Given the description of an element on the screen output the (x, y) to click on. 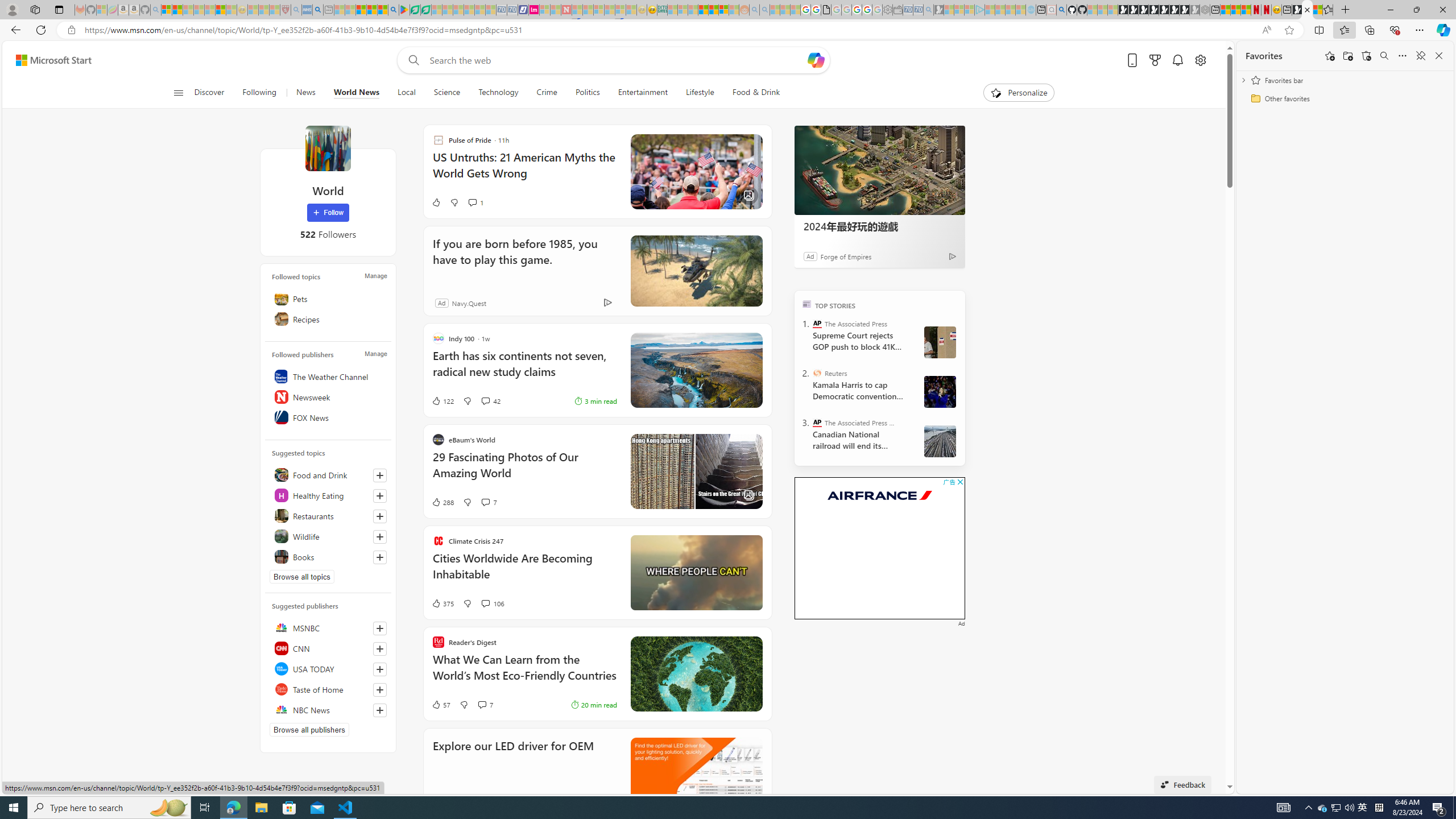
Explore our LED driver for OEM (513, 761)
57 Like (440, 704)
